Given the description of an element on the screen output the (x, y) to click on. 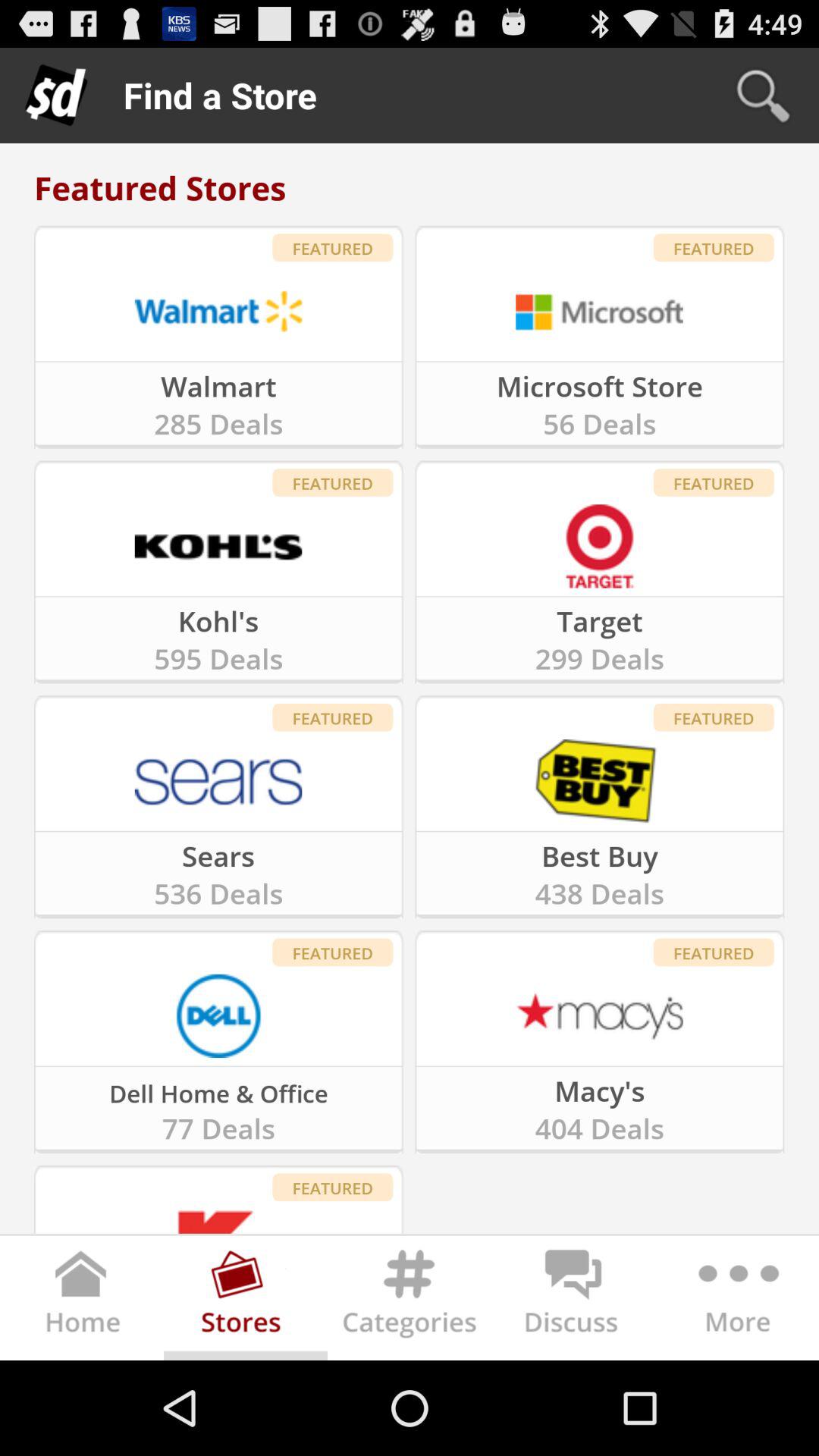
additional categories (736, 1300)
